Given the description of an element on the screen output the (x, y) to click on. 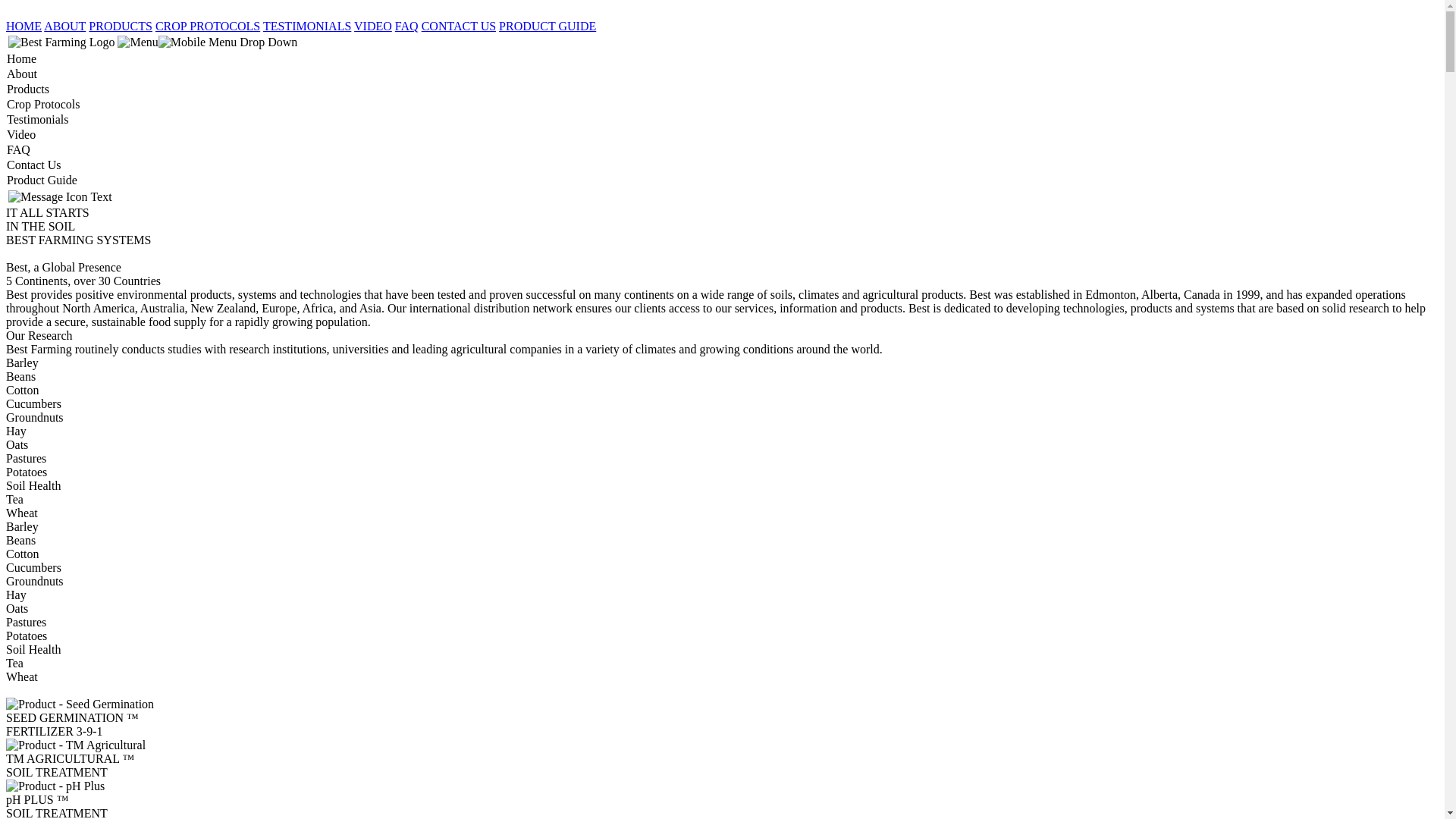
Cucumbers Element type: text (722, 404)
Wheat Element type: text (722, 677)
Barley Element type: text (722, 526)
Pastures Element type: text (722, 458)
PRODUCTS Element type: text (120, 25)
FAQ Element type: text (722, 149)
TESTIMONIALS Element type: text (307, 25)
Hay Element type: text (722, 595)
Crop Protocols Element type: text (722, 104)
Groundnuts Element type: text (722, 417)
HOME Element type: text (23, 25)
FAQ Element type: text (406, 25)
VIDEO Element type: text (373, 25)
Beans Element type: text (722, 540)
ABOUT Element type: text (64, 25)
Product Guide Element type: text (722, 180)
CONTACT US Element type: text (458, 25)
Tea Element type: text (722, 663)
Home Element type: text (722, 58)
Cotton Element type: text (722, 390)
Potatoes Element type: text (722, 636)
Oats Element type: text (722, 608)
Cucumbers Element type: text (722, 567)
About Element type: text (722, 73)
Potatoes Element type: text (722, 472)
PRODUCT GUIDE Element type: text (547, 25)
Tea Element type: text (722, 499)
CROP PROTOCOLS Element type: text (207, 25)
Wheat Element type: text (722, 513)
Products Element type: text (722, 89)
Groundnuts Element type: text (722, 581)
Beans Element type: text (722, 376)
Contact Us Element type: text (722, 164)
Pastures Element type: text (722, 622)
Hay Element type: text (722, 431)
Oats Element type: text (722, 444)
Cotton Element type: text (722, 554)
Soil Health Element type: text (722, 649)
Barley Element type: text (722, 363)
Video Element type: text (722, 134)
Soil Health Element type: text (722, 485)
Testimonials Element type: text (722, 119)
